Given the description of an element on the screen output the (x, y) to click on. 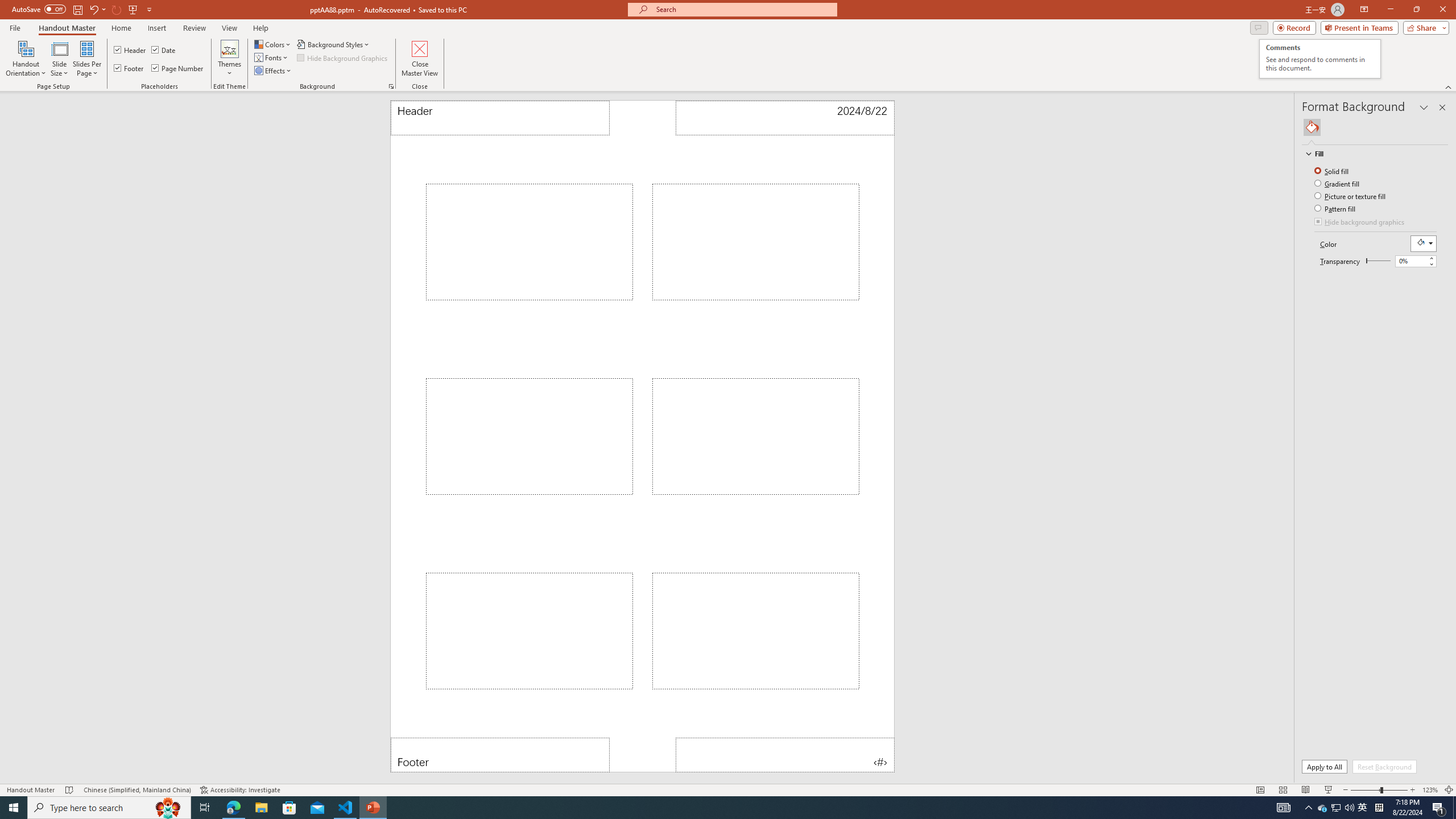
Pattern fill (1335, 208)
Apply to All (1323, 766)
Handout Master (66, 28)
Slides Per Page (87, 58)
Fonts (271, 56)
Reset Background (1384, 766)
